Given the description of an element on the screen output the (x, y) to click on. 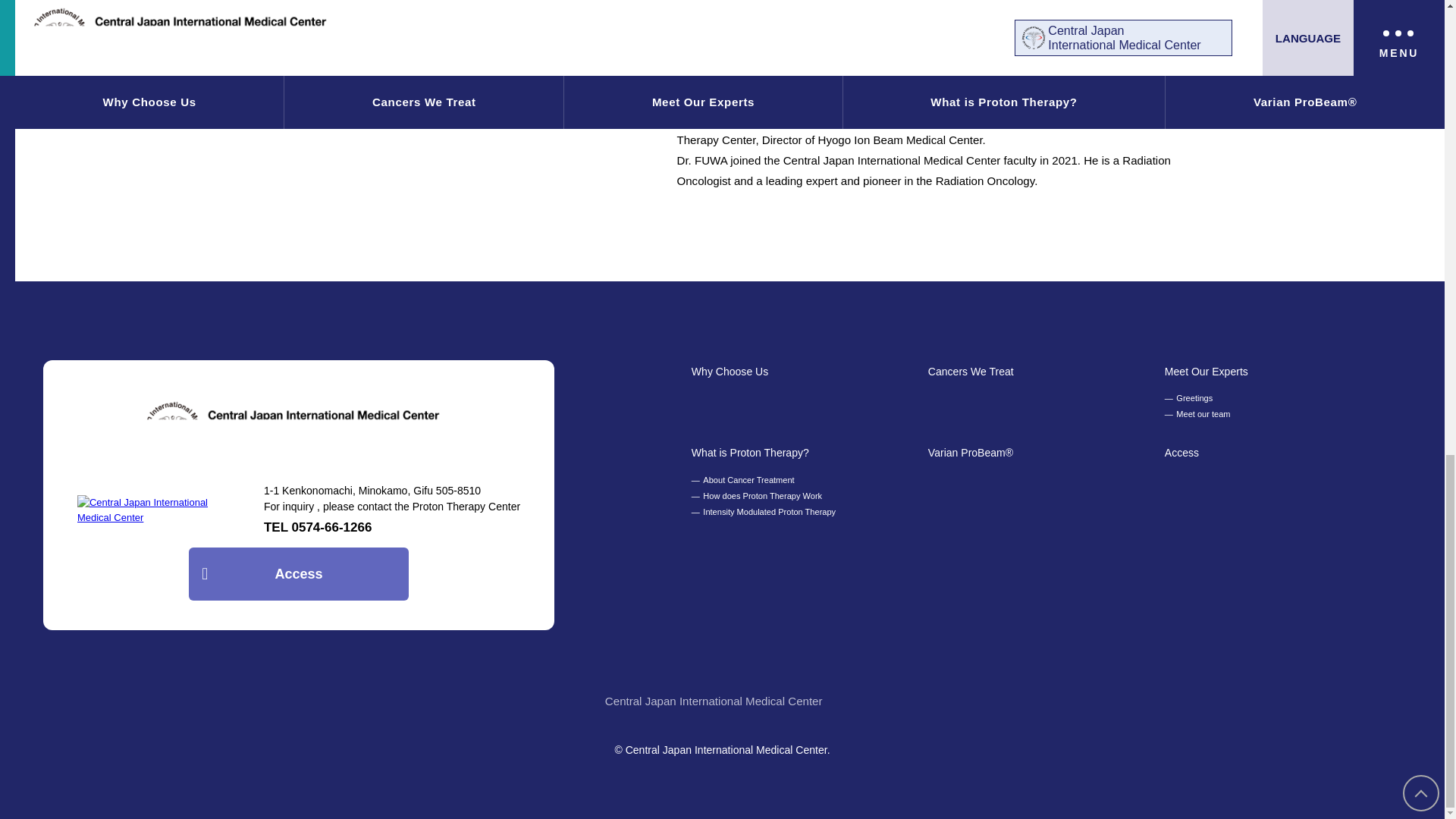
Access (298, 573)
Access (1181, 453)
Meet our team (1197, 414)
Meet Our Experts (1205, 371)
TEL 0574-66-1266 (317, 527)
Cancers We Treat (970, 371)
About Cancer Treatment (742, 480)
Central Japan International Medical Center (722, 701)
Intensity Modulated Proton Therapy (763, 512)
What is Proton Therapy? (750, 453)
Why Choose Us (729, 371)
Greetings (1188, 398)
How does Proton Therapy Work (756, 496)
